Given the description of an element on the screen output the (x, y) to click on. 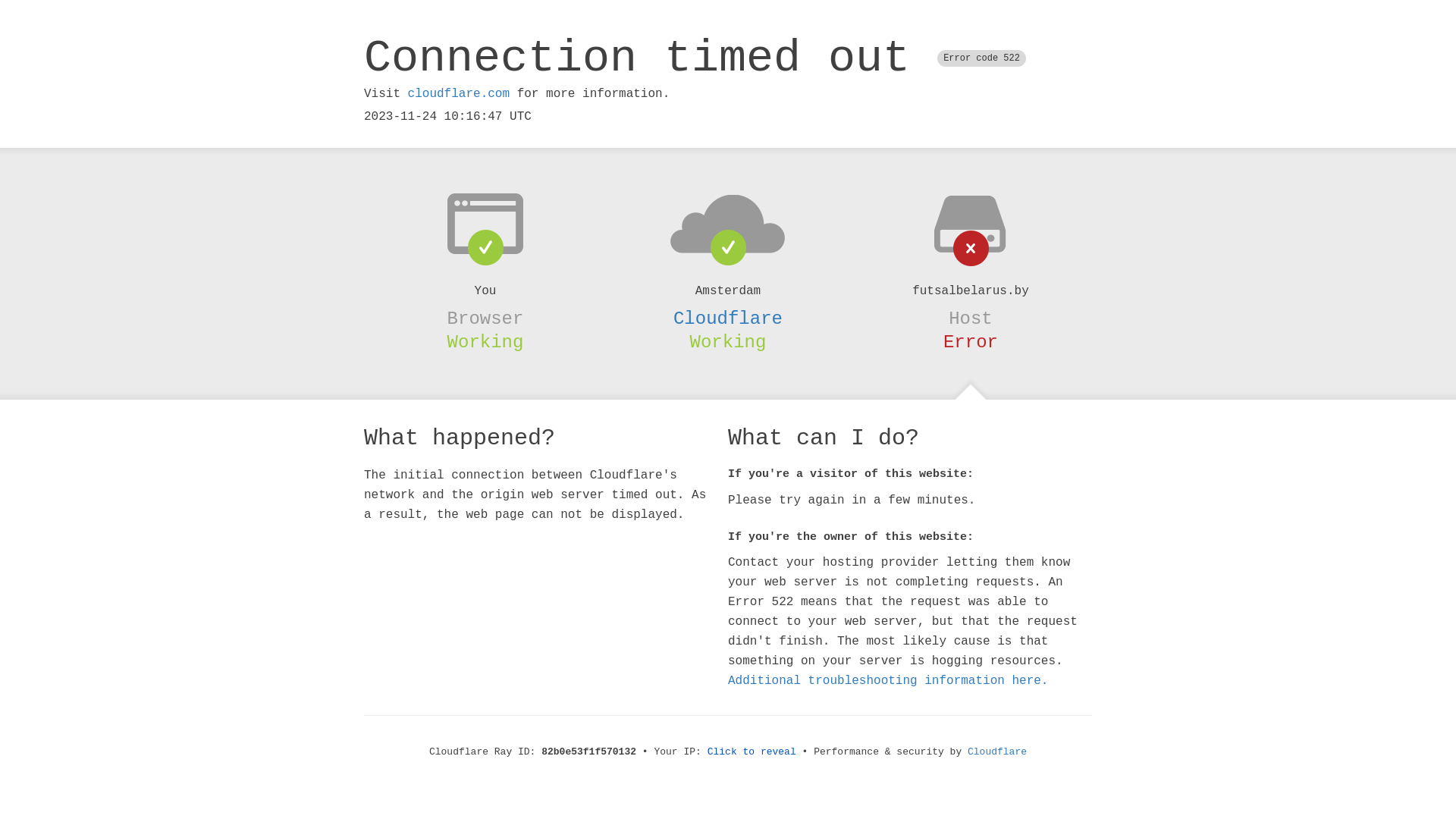
Cloudflare Element type: text (996, 751)
Additional troubleshooting information here. Element type: text (888, 680)
Cloudflare Element type: text (727, 318)
Click to reveal Element type: text (751, 751)
cloudflare.com Element type: text (458, 93)
